Given the description of an element on the screen output the (x, y) to click on. 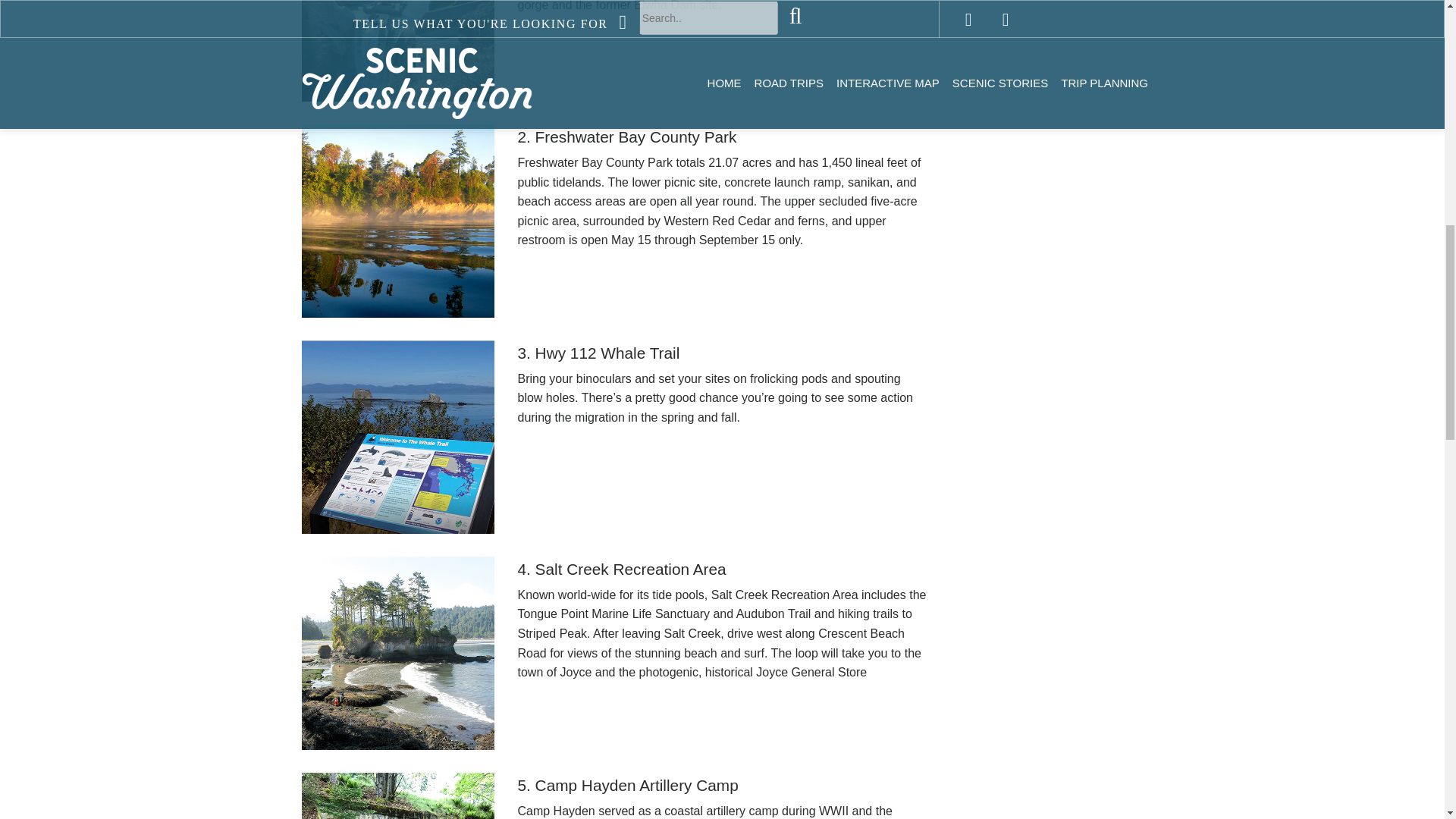
2. Freshwater Bay County Park (721, 136)
